Given the description of an element on the screen output the (x, y) to click on. 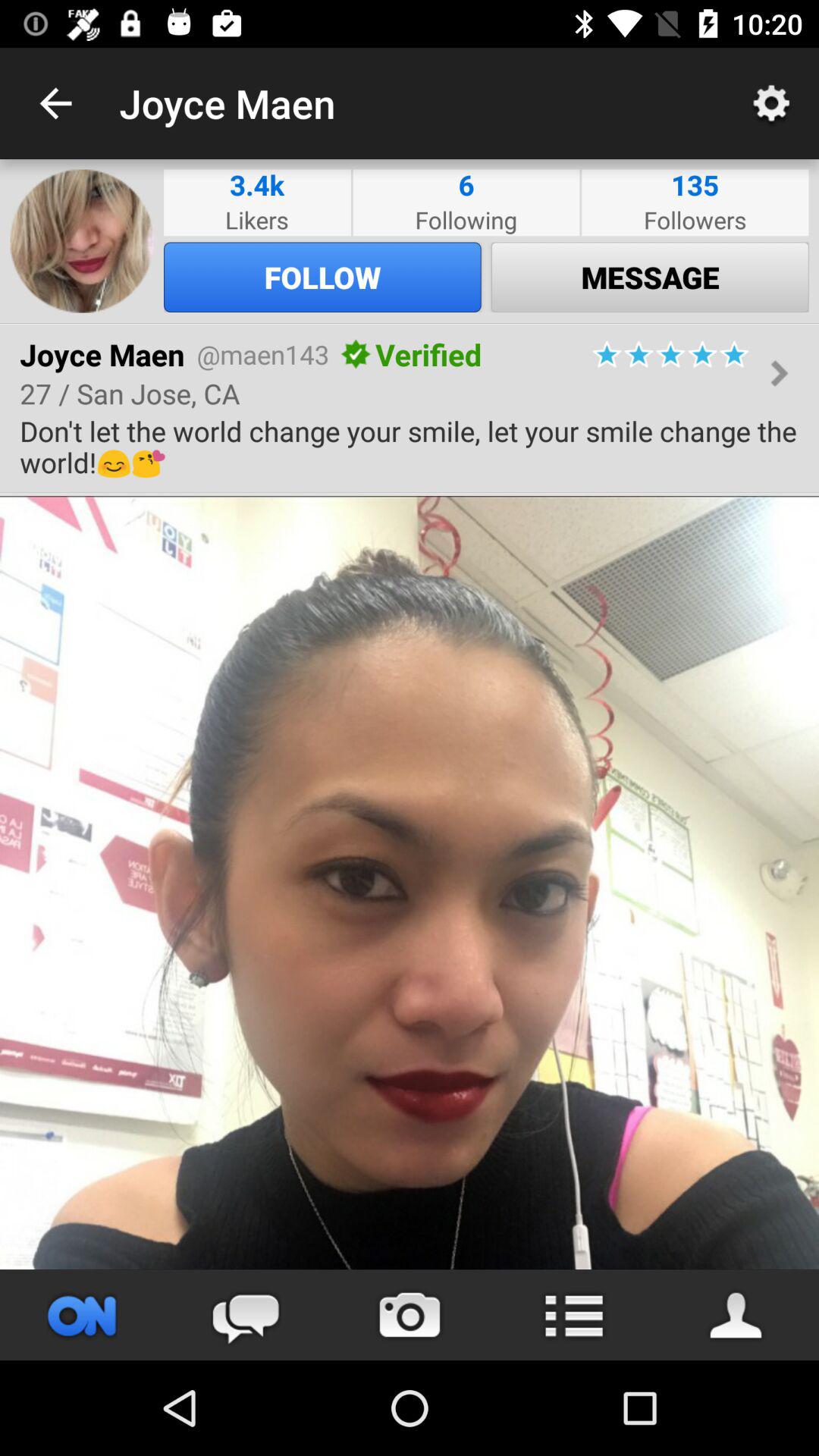
go to list (573, 1315)
